Given the description of an element on the screen output the (x, y) to click on. 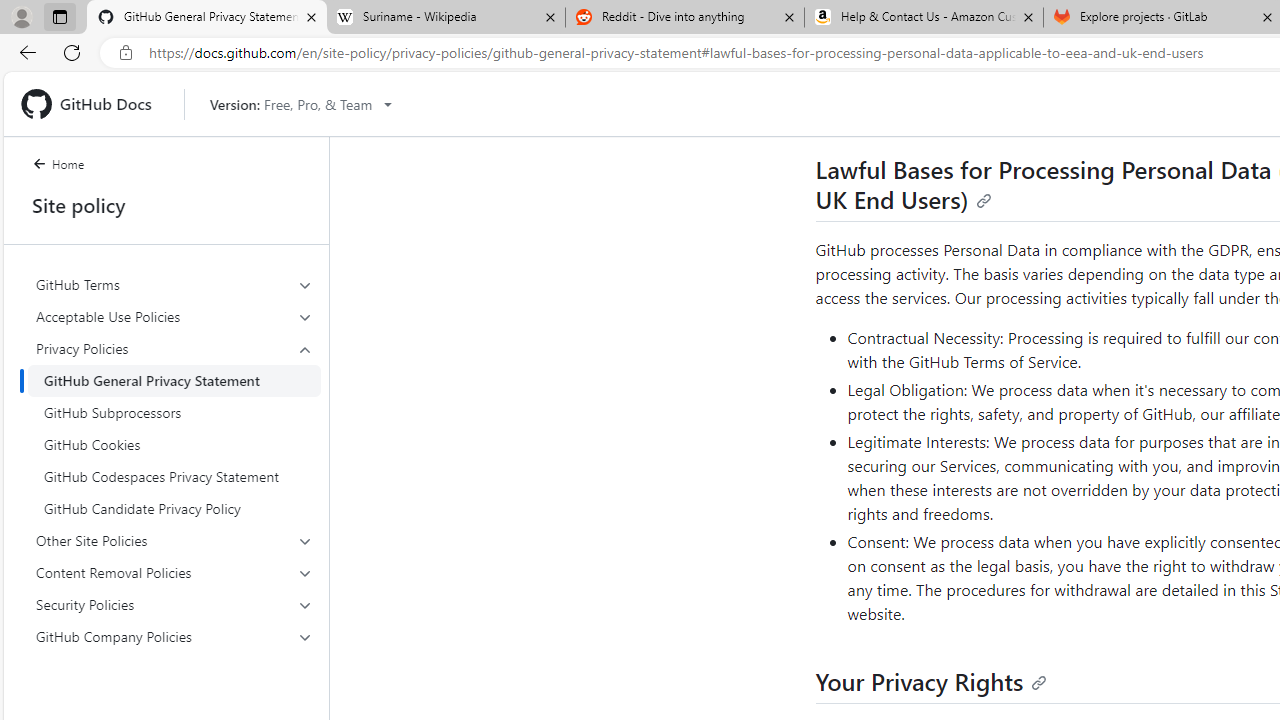
GitHub Terms (174, 284)
Content Removal Policies (174, 572)
Acceptable Use Policies (174, 316)
GitHub Candidate Privacy Policy (174, 508)
Suriname - Wikipedia (445, 17)
Other Site Policies (174, 540)
GitHub Cookies (174, 444)
GitHub General Privacy Statement - GitHub Docs (207, 17)
GitHub Company Policies (174, 636)
Content Removal Policies (174, 572)
GitHub General Privacy Statement (174, 380)
GitHub Codespaces Privacy Statement (174, 476)
